Given the description of an element on the screen output the (x, y) to click on. 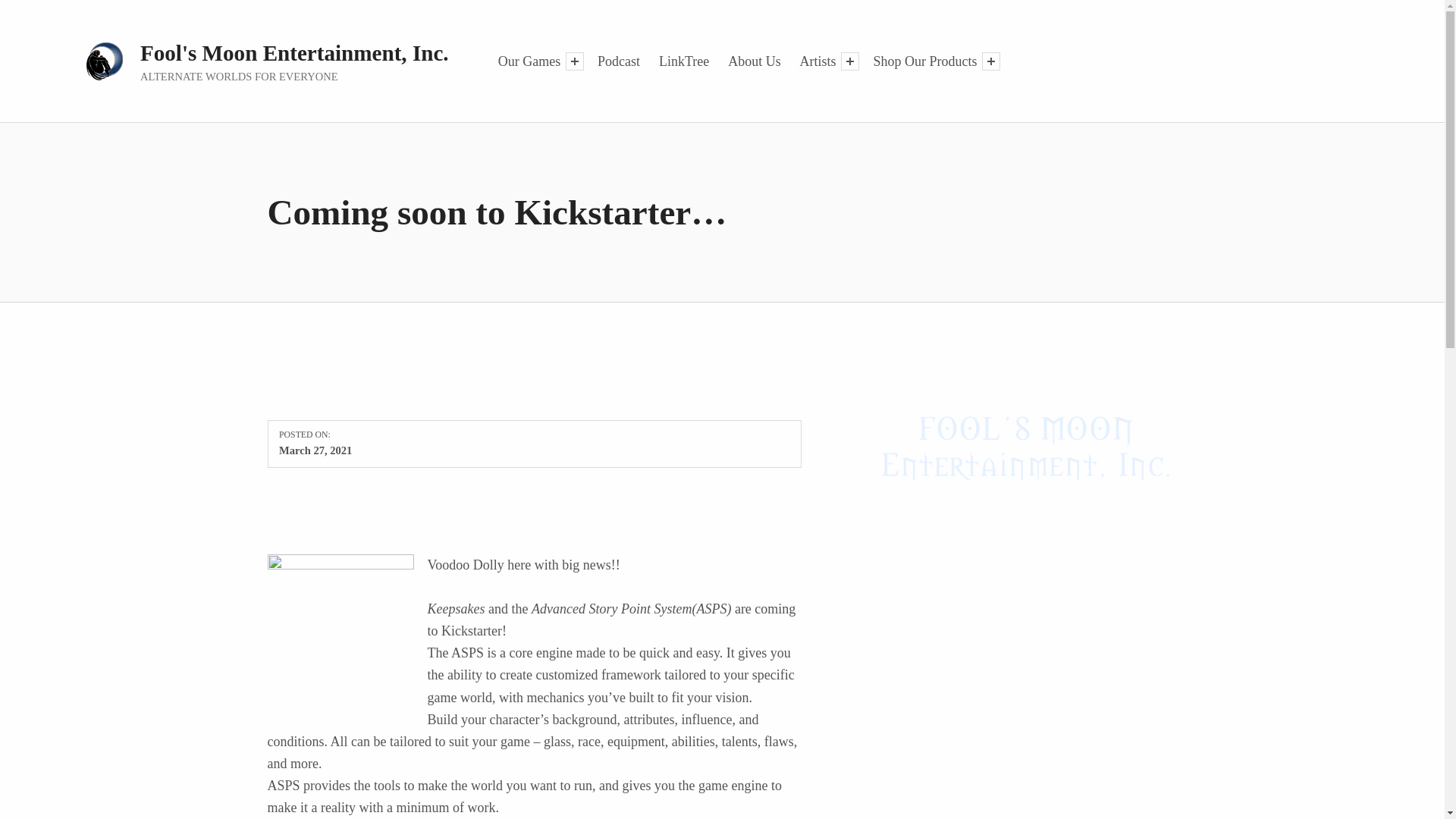
Podcast (618, 60)
About Us (754, 60)
Posted on: March 27, 2021 (315, 450)
Shop Our Products (924, 60)
Fool's Moon Entertainment, Inc. (293, 52)
Artists (817, 60)
Our Games (529, 60)
LinkTree (683, 60)
March 27, 2021 (315, 450)
